Given the description of an element on the screen output the (x, y) to click on. 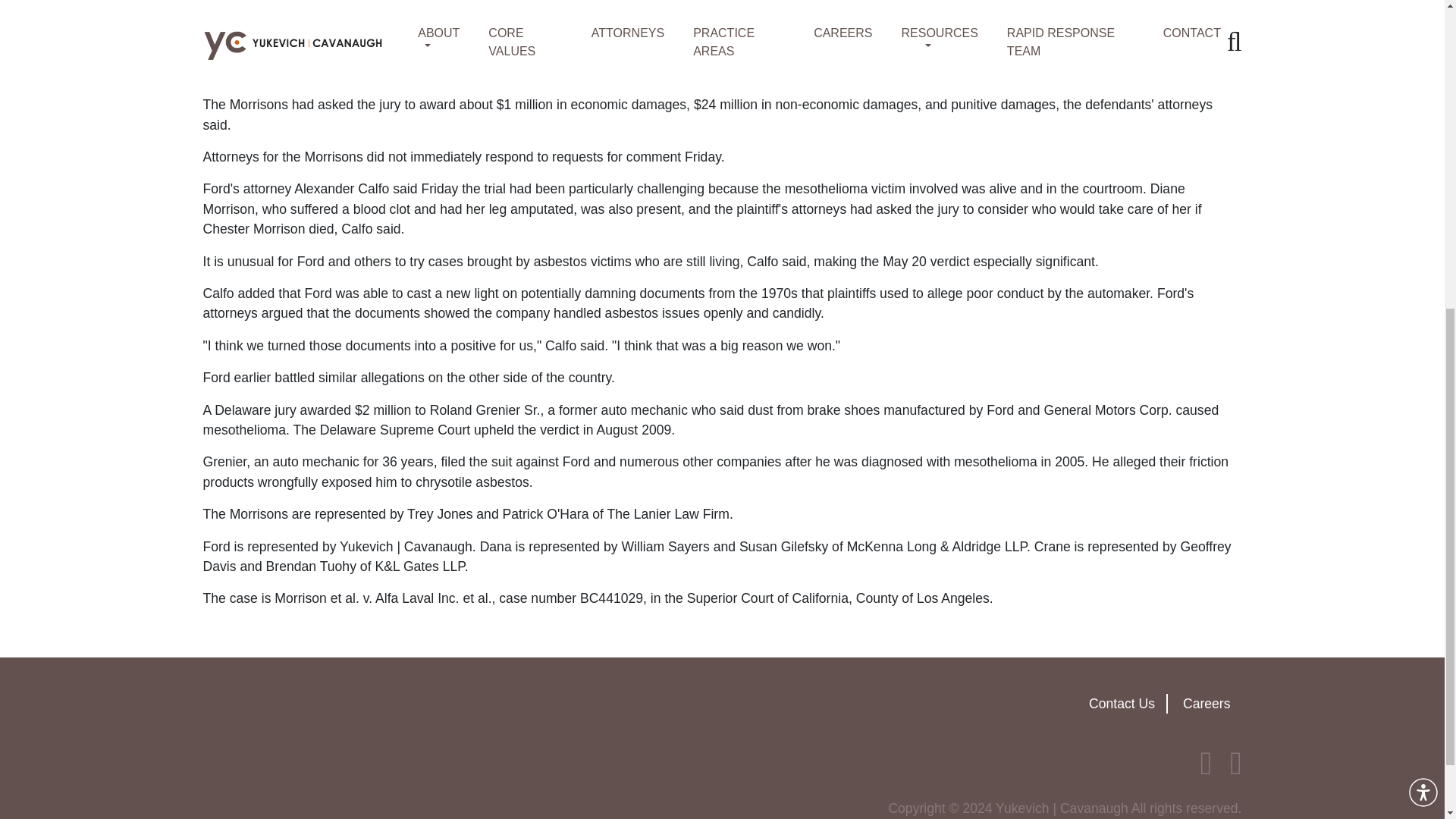
Accessibility Menu (1422, 257)
Careers (1206, 703)
Contact Us (1121, 703)
